Given the description of an element on the screen output the (x, y) to click on. 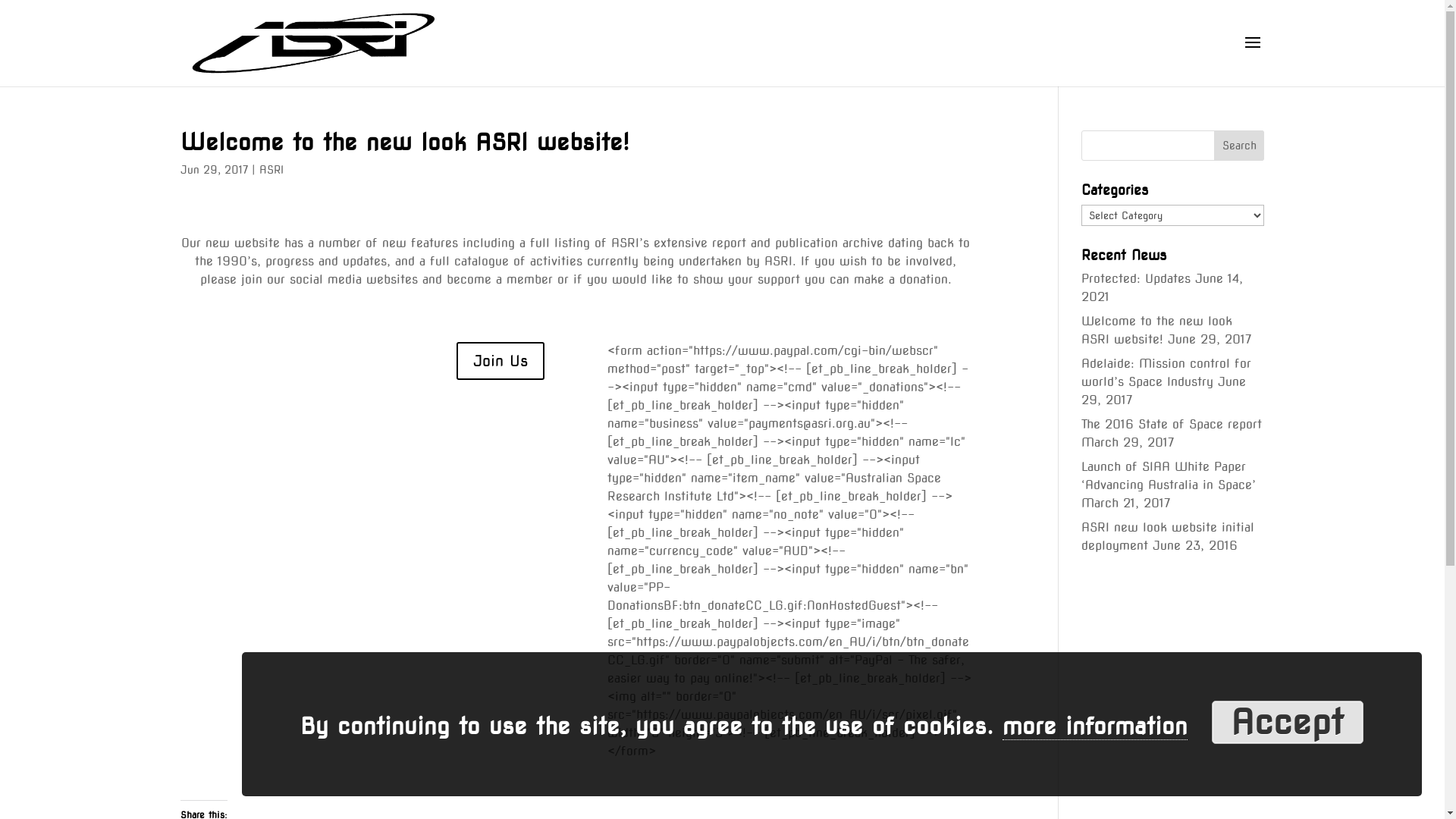
Search Element type: text (1239, 145)
more information Element type: text (1094, 726)
The 2016 State of Space report Element type: text (1171, 424)
Protected: Updates Element type: text (1135, 278)
ASRI new look website initial deployment Element type: text (1167, 536)
Join Us Element type: text (500, 360)
Welcome to the new look ASRI website! Element type: text (1156, 329)
ASRI Element type: text (271, 169)
Accept Element type: text (1287, 721)
